Given the description of an element on the screen output the (x, y) to click on. 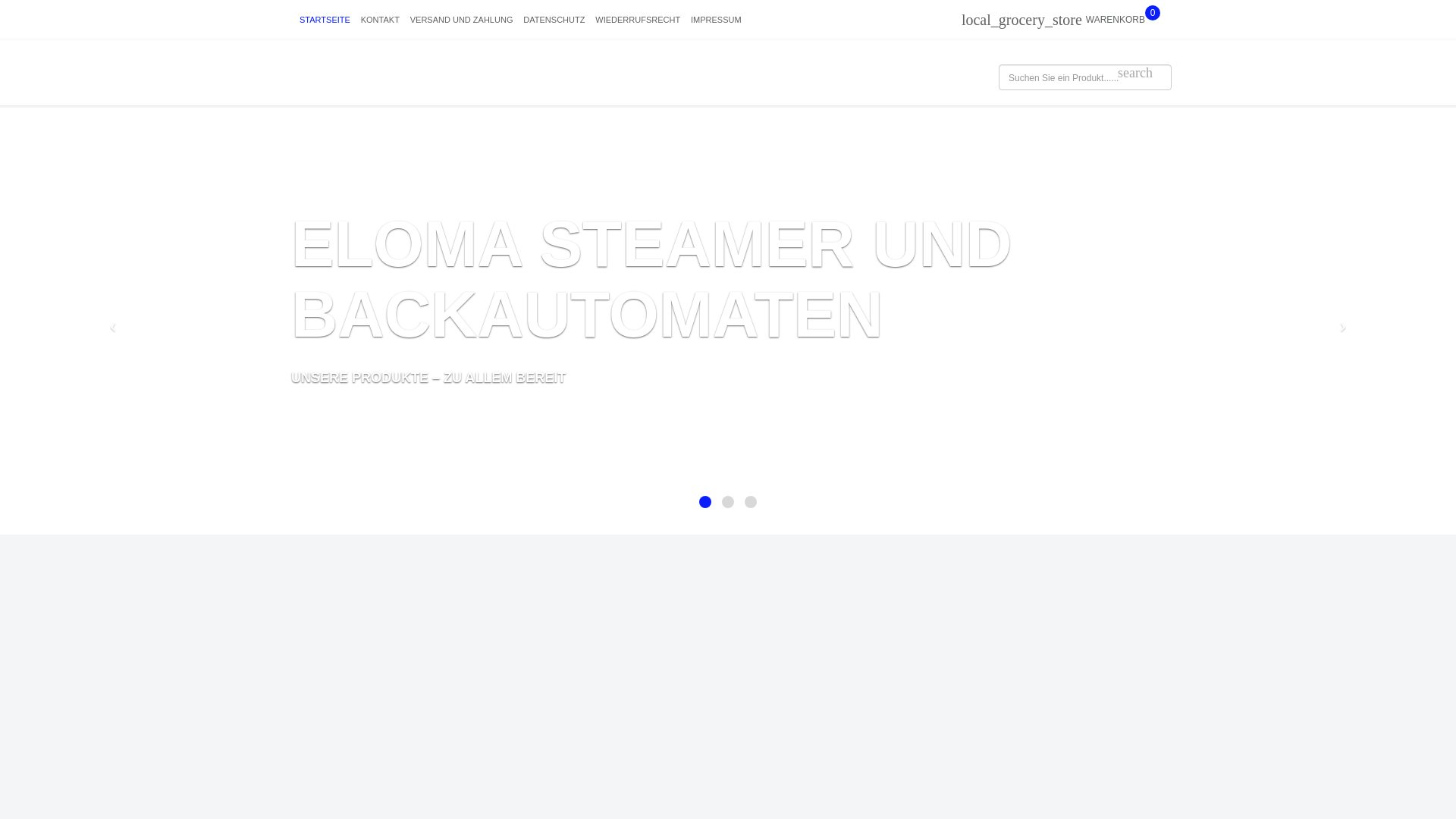
STARTSEITE Element type: text (324, 21)
DATENSCHUTZ Element type: text (553, 21)
IMPRESSUM Element type: text (715, 21)
KONTAKT Element type: text (379, 21)
WIEDERRUFSRECHT Element type: text (637, 21)
WARENKORB Element type: text (1115, 21)
search Element type: text (1134, 72)
VERSAND UND ZAHLUNG Element type: text (461, 21)
local_grocery_storeWARENKORB
0 Element type: text (1062, 19)
